Given the description of an element on the screen output the (x, y) to click on. 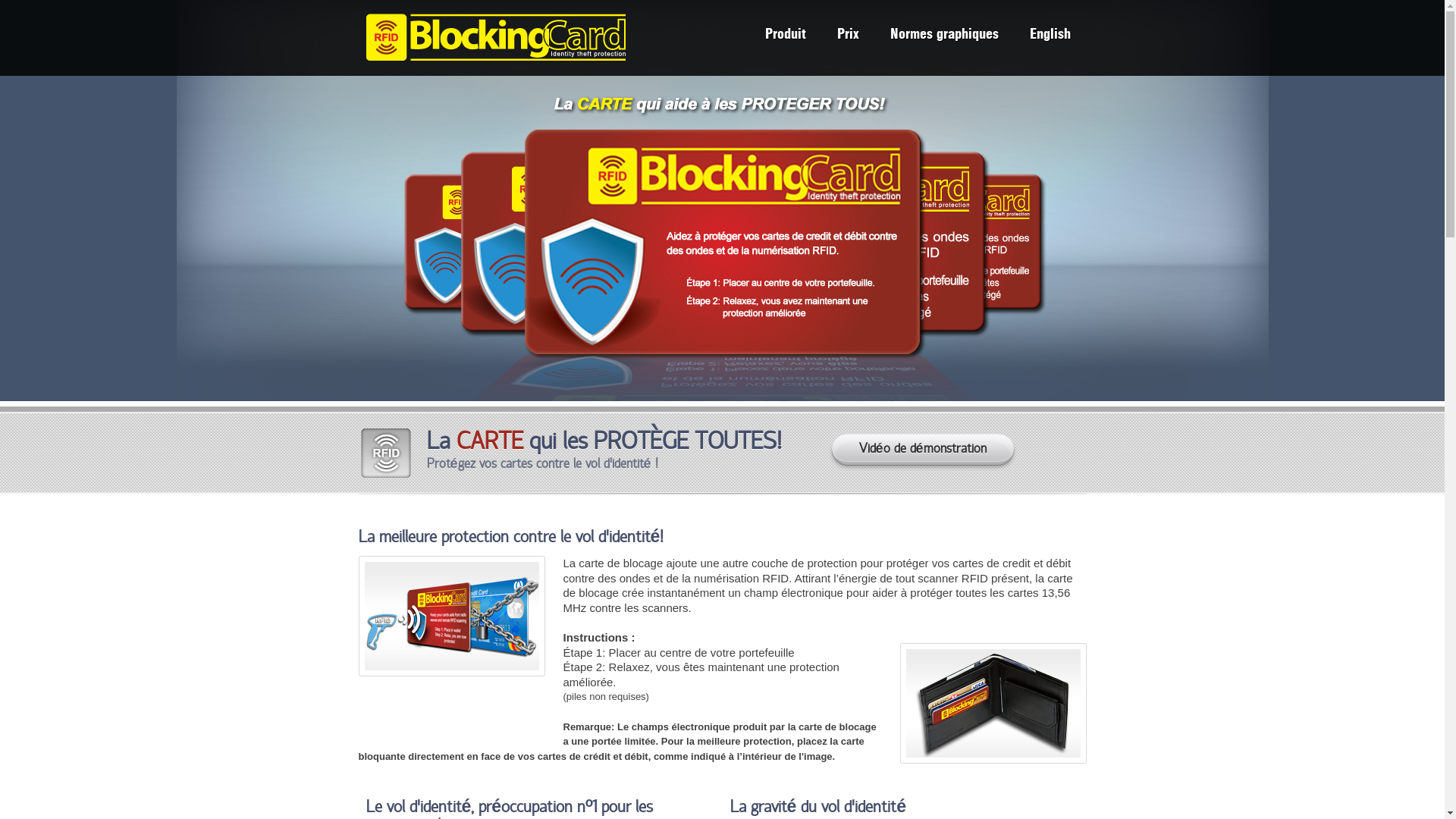
Prix Element type: text (848, 36)
Normes graphiques Element type: text (944, 36)
Produit Element type: text (784, 36)
English Element type: text (1049, 36)
